Given the description of an element on the screen output the (x, y) to click on. 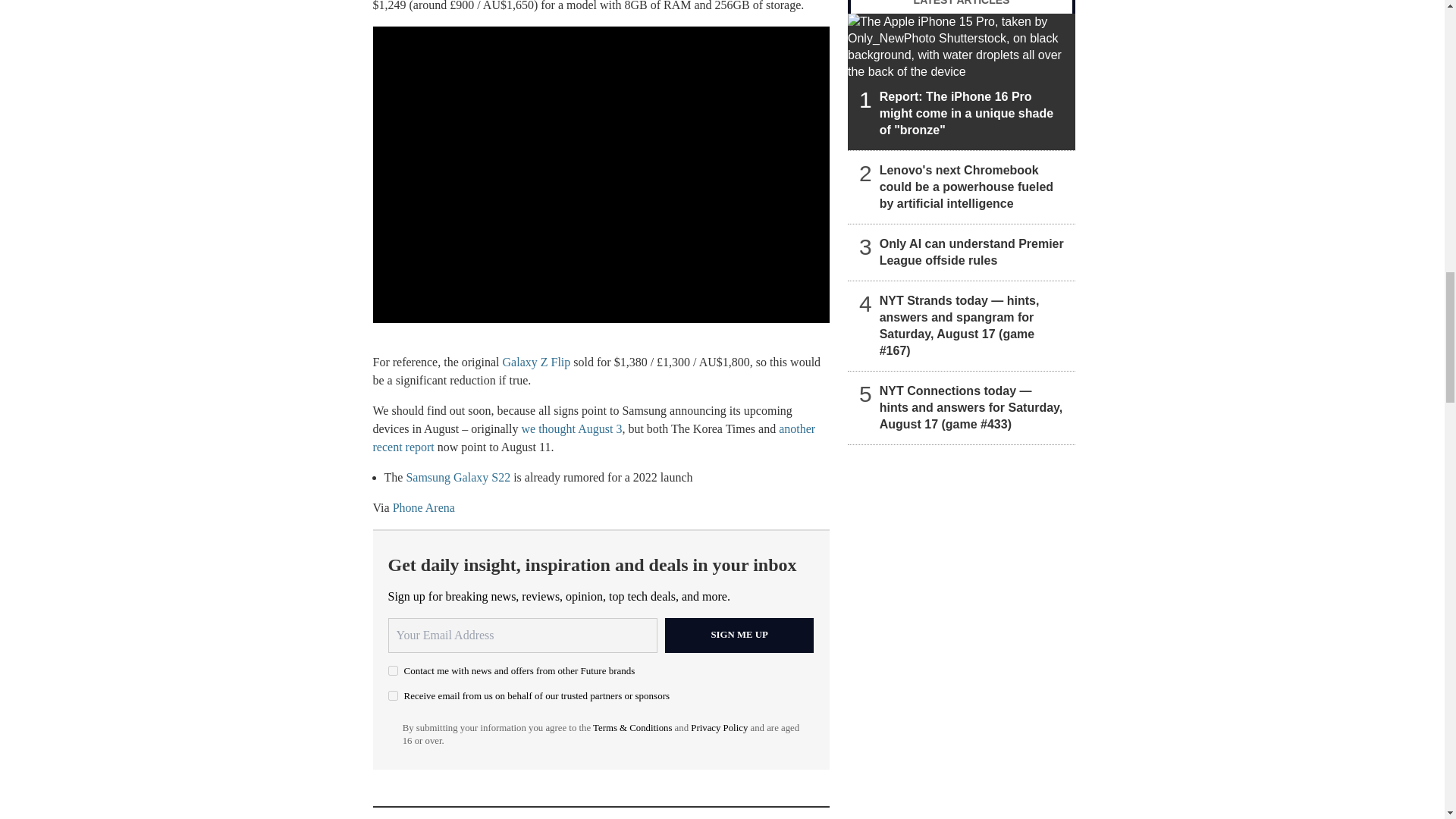
on (392, 670)
Sign me up (739, 635)
on (392, 696)
